Given the description of an element on the screen output the (x, y) to click on. 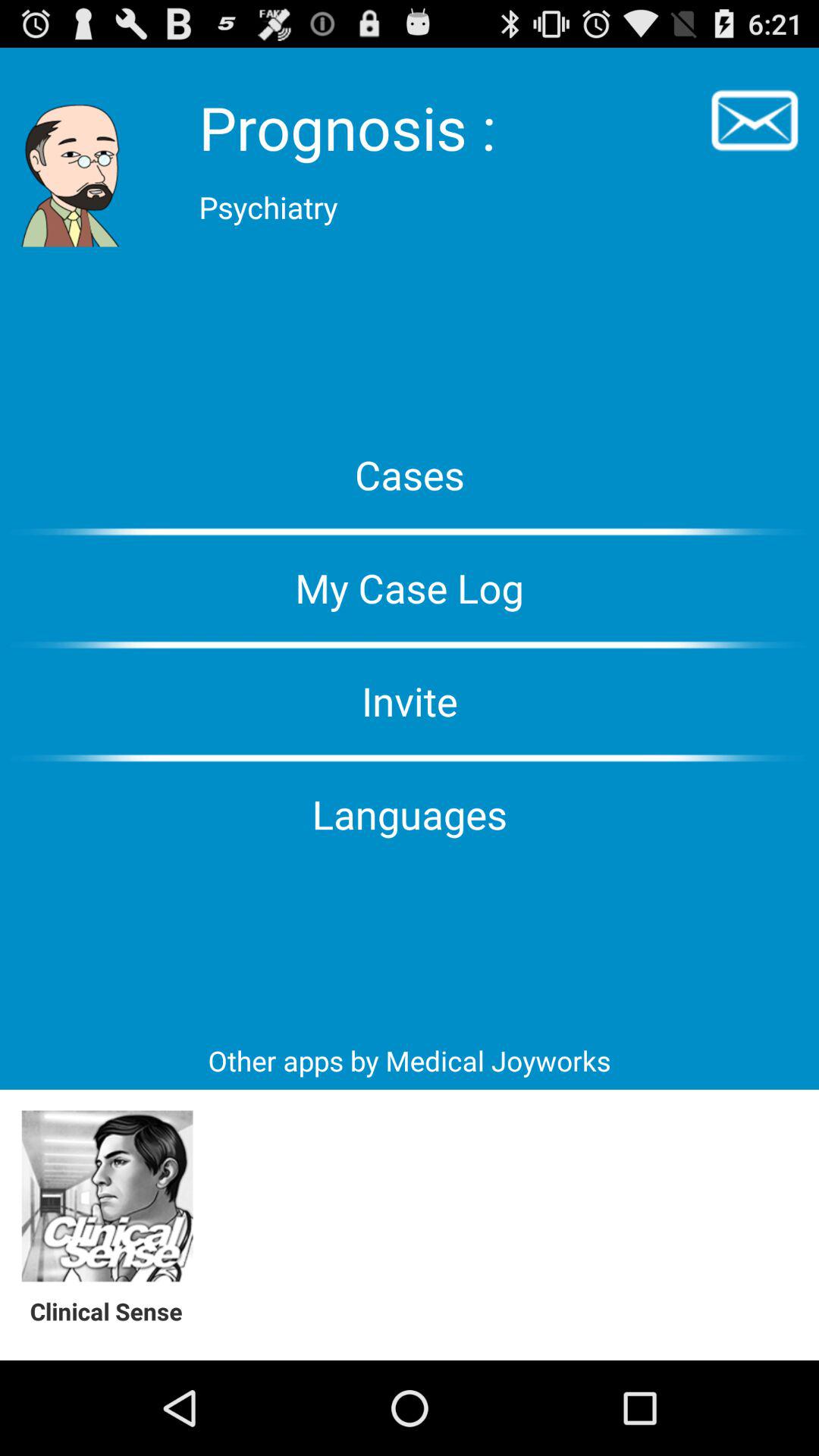
flip until clinical sense (114, 1311)
